Given the description of an element on the screen output the (x, y) to click on. 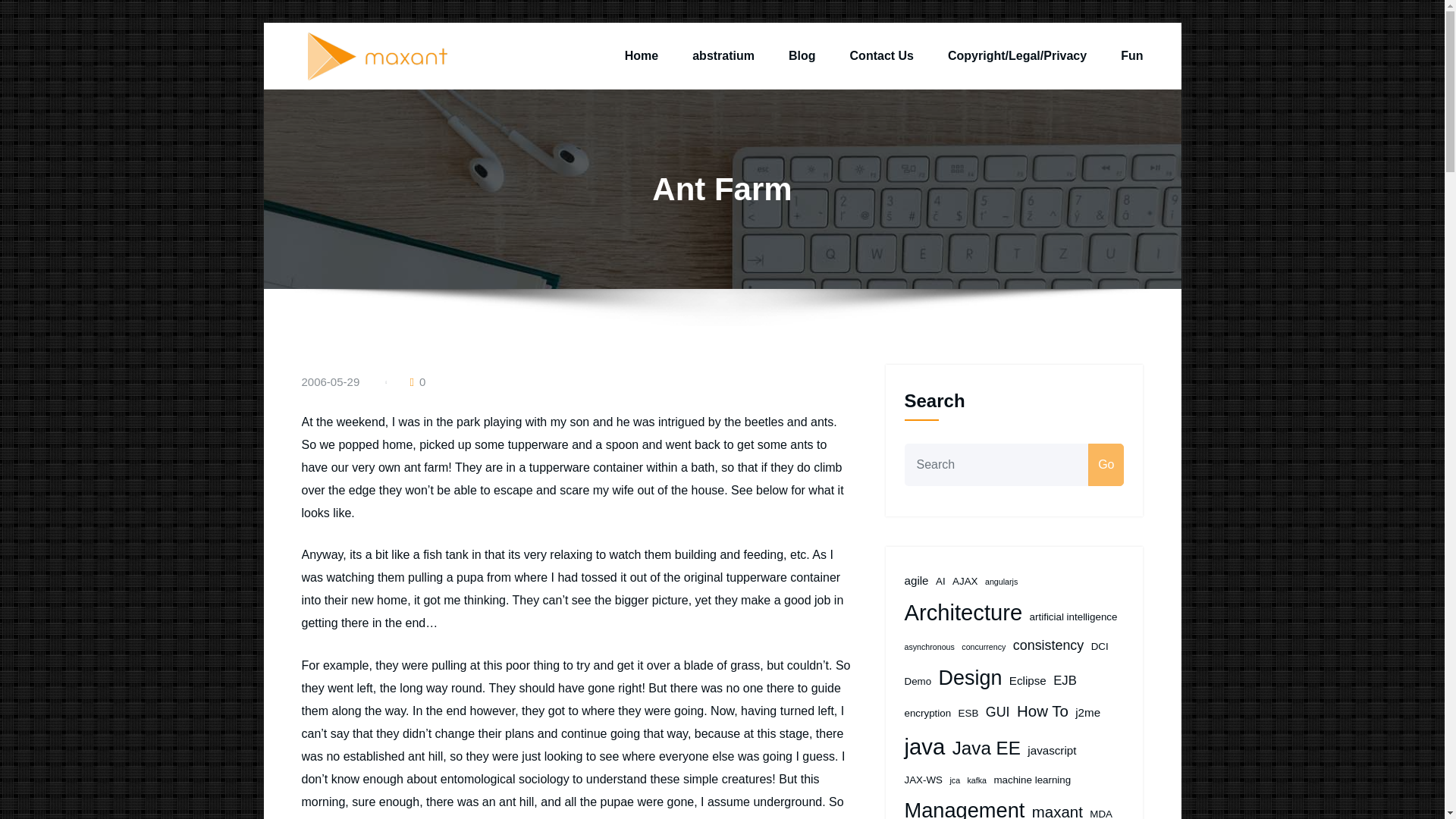
Blog (802, 56)
Contact Us (882, 56)
maxant (504, 70)
Home (641, 56)
Home (641, 56)
2006-05-29 (330, 381)
0 (417, 381)
abstratium (723, 56)
